Given the description of an element on the screen output the (x, y) to click on. 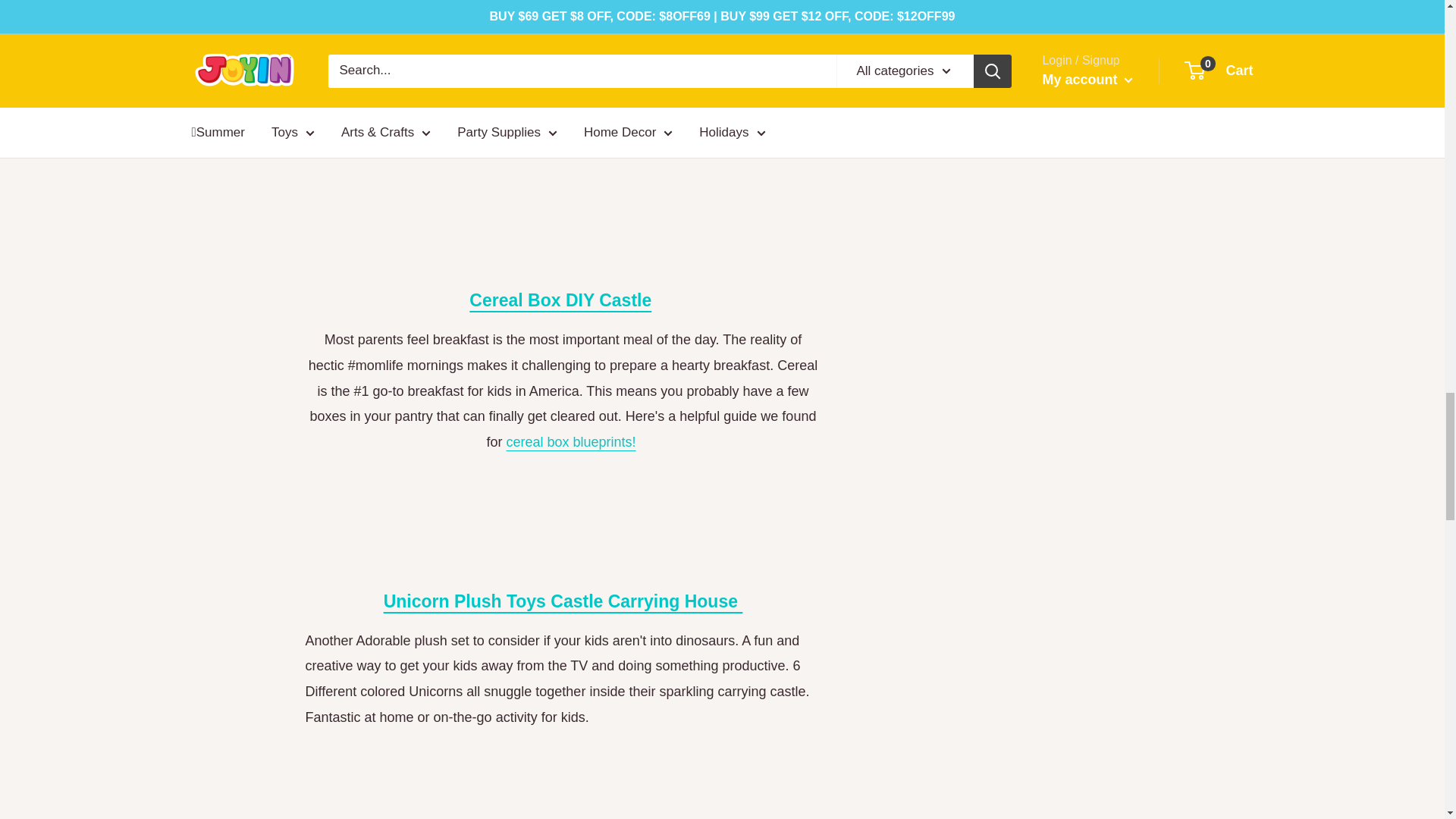
PLAY-ACT 6 PACK UNICORN CASTLE PLUSH TOY SET (563, 600)
CerealCastleBlueprints (569, 441)
RADIO CONTROL DINO RACE CAR TOYS (562, 7)
